Given the description of an element on the screen output the (x, y) to click on. 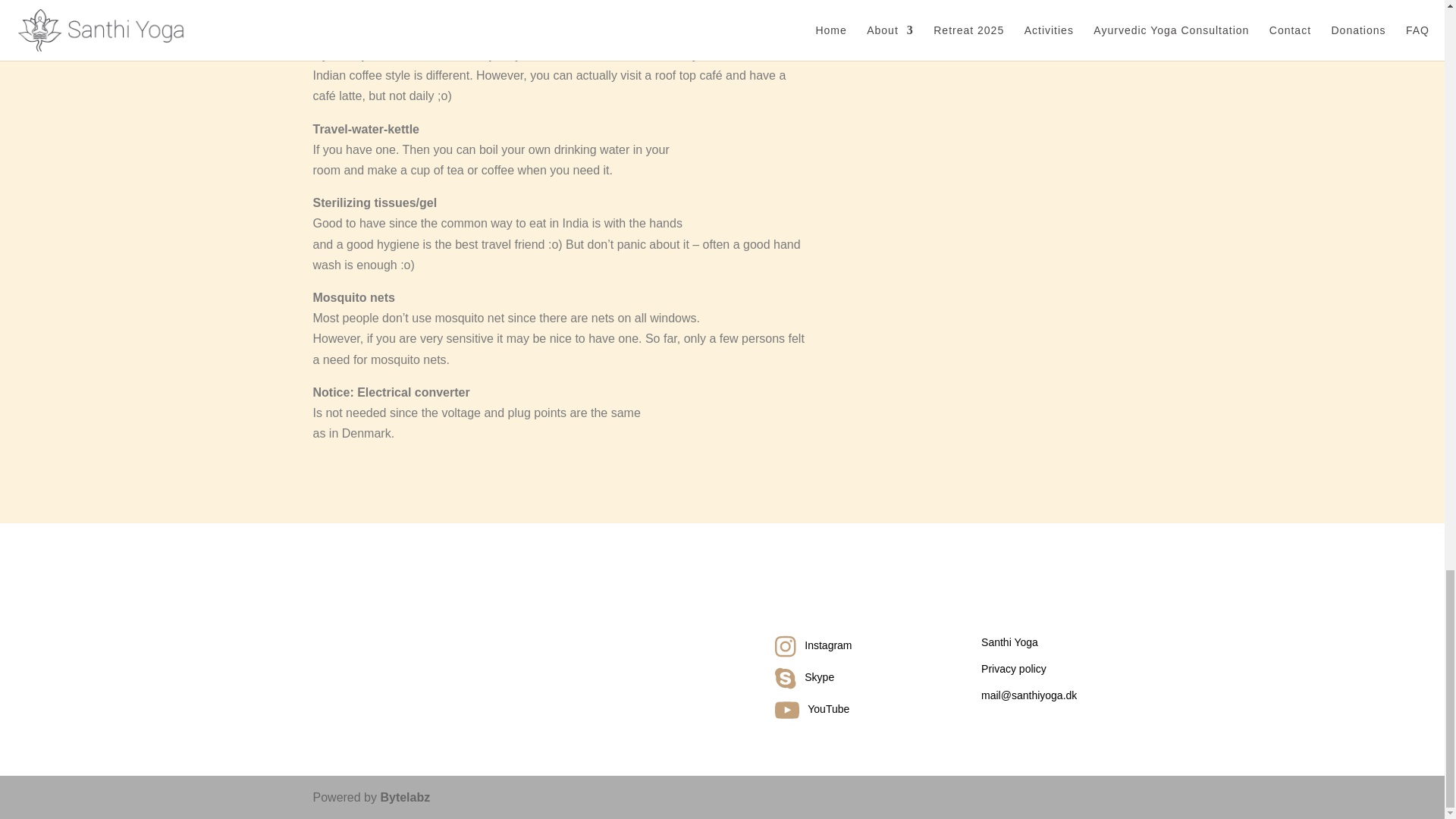
Privacy policy (1013, 668)
Skype (819, 676)
YouTube (828, 708)
Instagram (828, 645)
Bytelabz (404, 797)
